Given the description of an element on the screen output the (x, y) to click on. 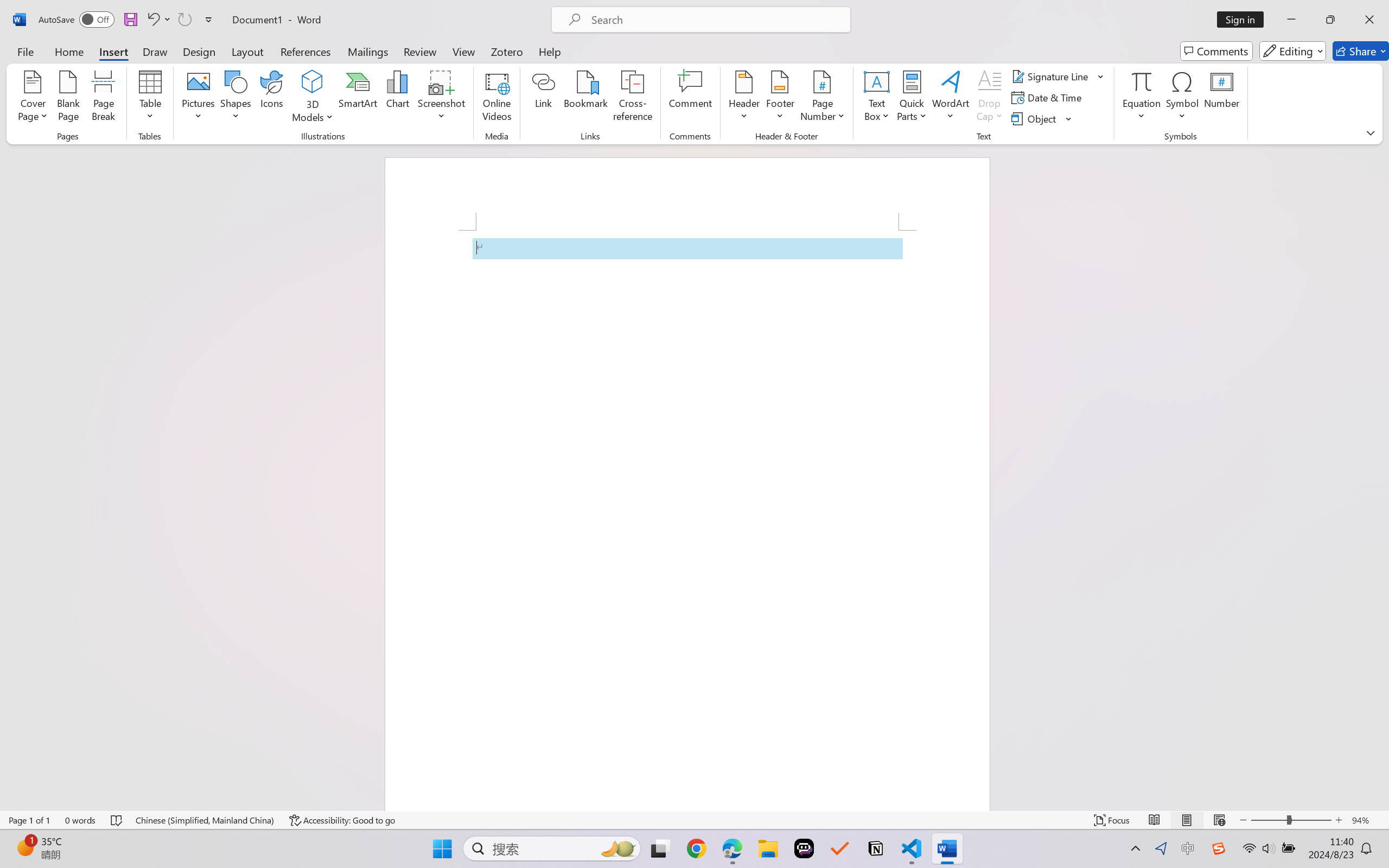
Shapes (235, 97)
Equation (1141, 97)
3D Models (312, 81)
Text Box (876, 97)
Signature Line (1058, 75)
Header (743, 97)
Pictures (198, 97)
Chart... (396, 97)
Undo Apply Quick Style (158, 19)
